Given the description of an element on the screen output the (x, y) to click on. 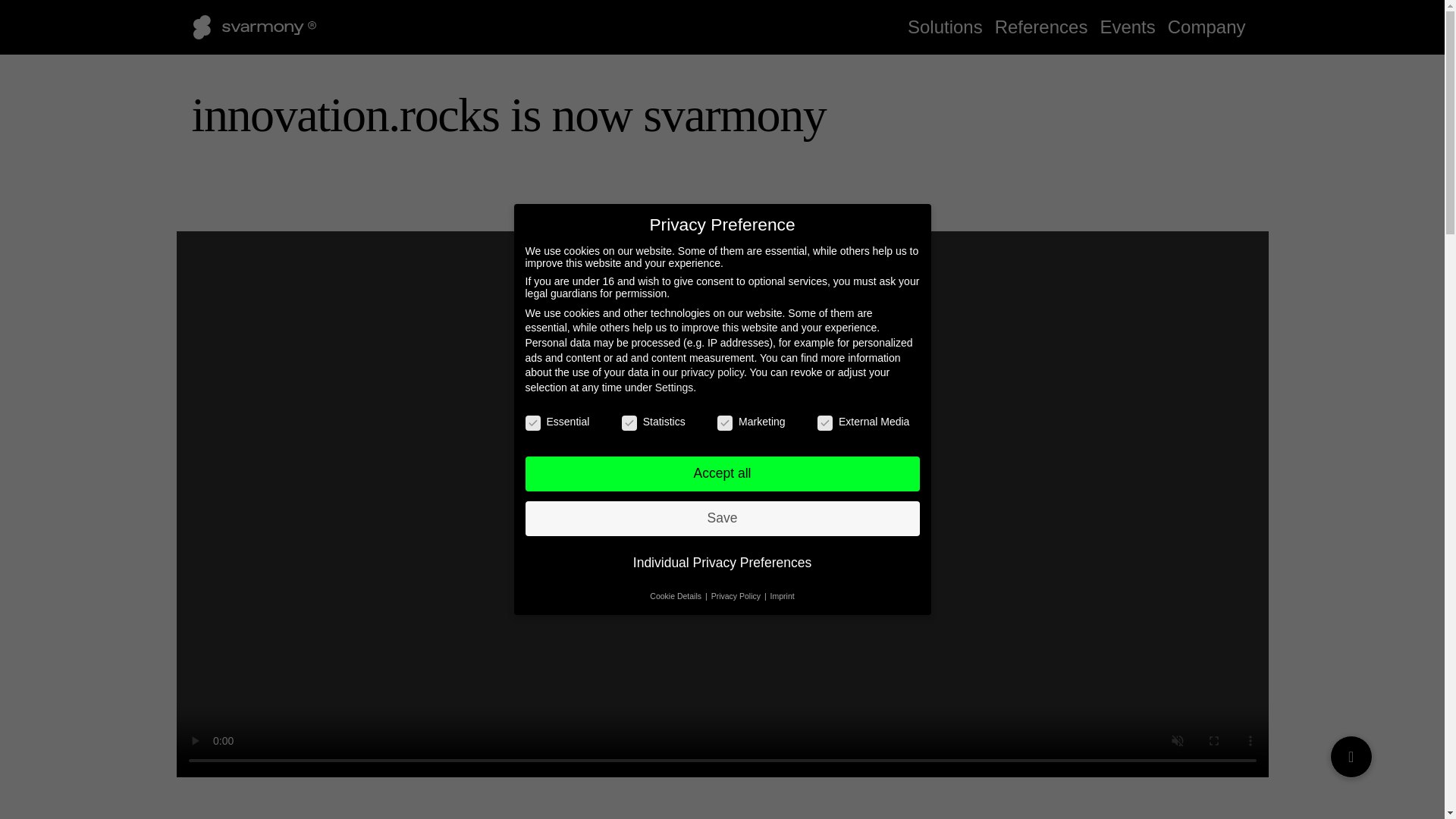
Privacy Policy (736, 595)
privacy policy (712, 372)
Save (721, 518)
Cookie Details (676, 595)
Imprint (782, 595)
Company (1206, 26)
Individual Privacy Preferences (721, 563)
Solutions (944, 26)
Events (1126, 26)
Settings (674, 387)
